Given the description of an element on the screen output the (x, y) to click on. 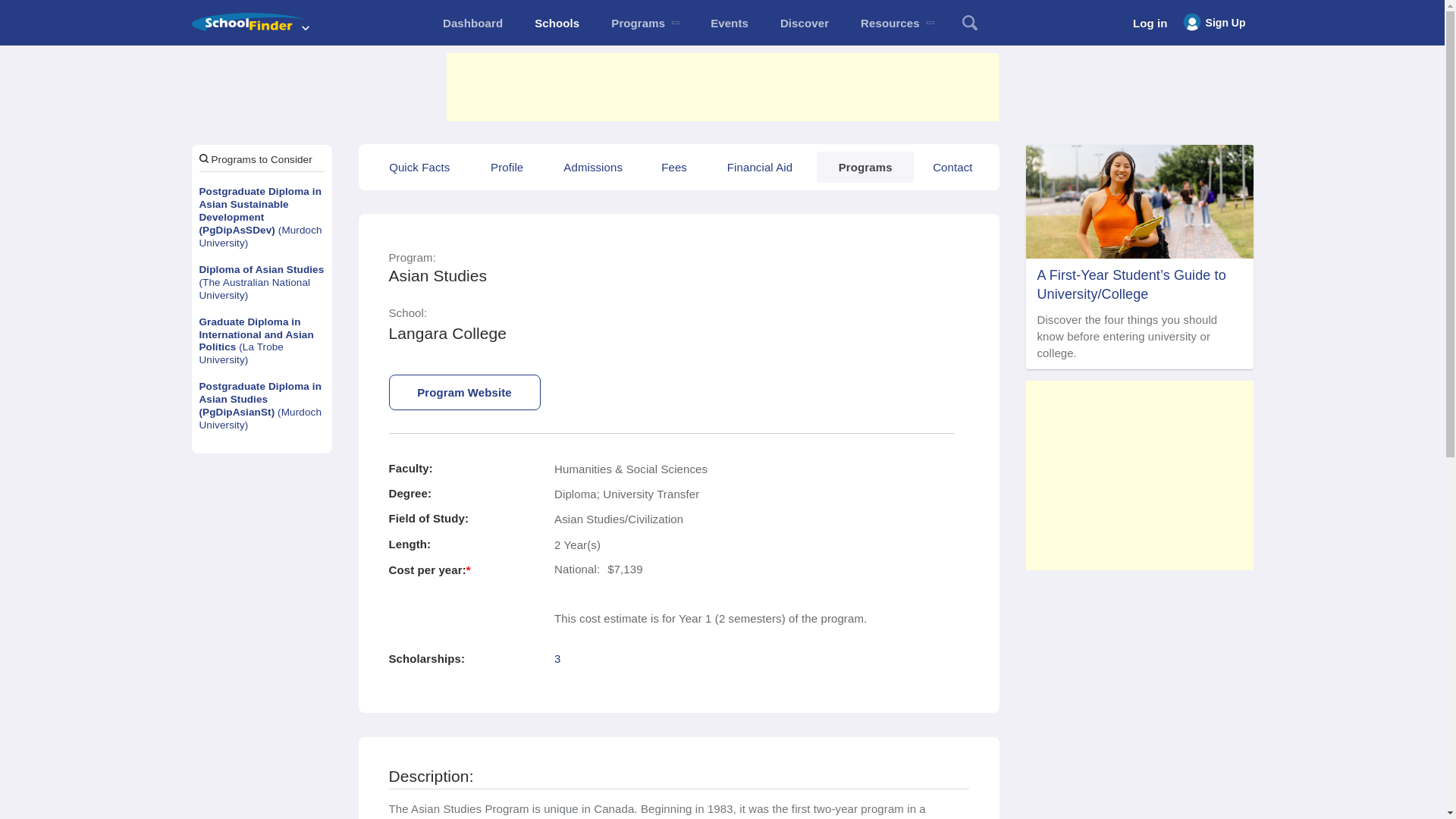
Sign Up (1213, 22)
Fees (674, 166)
Contact (952, 166)
Quick Facts (419, 166)
Dashboard (472, 22)
Program Website (464, 392)
Discover (804, 22)
Resources (896, 22)
mySTUFF (472, 22)
Admissions (592, 166)
